Given the description of an element on the screen output the (x, y) to click on. 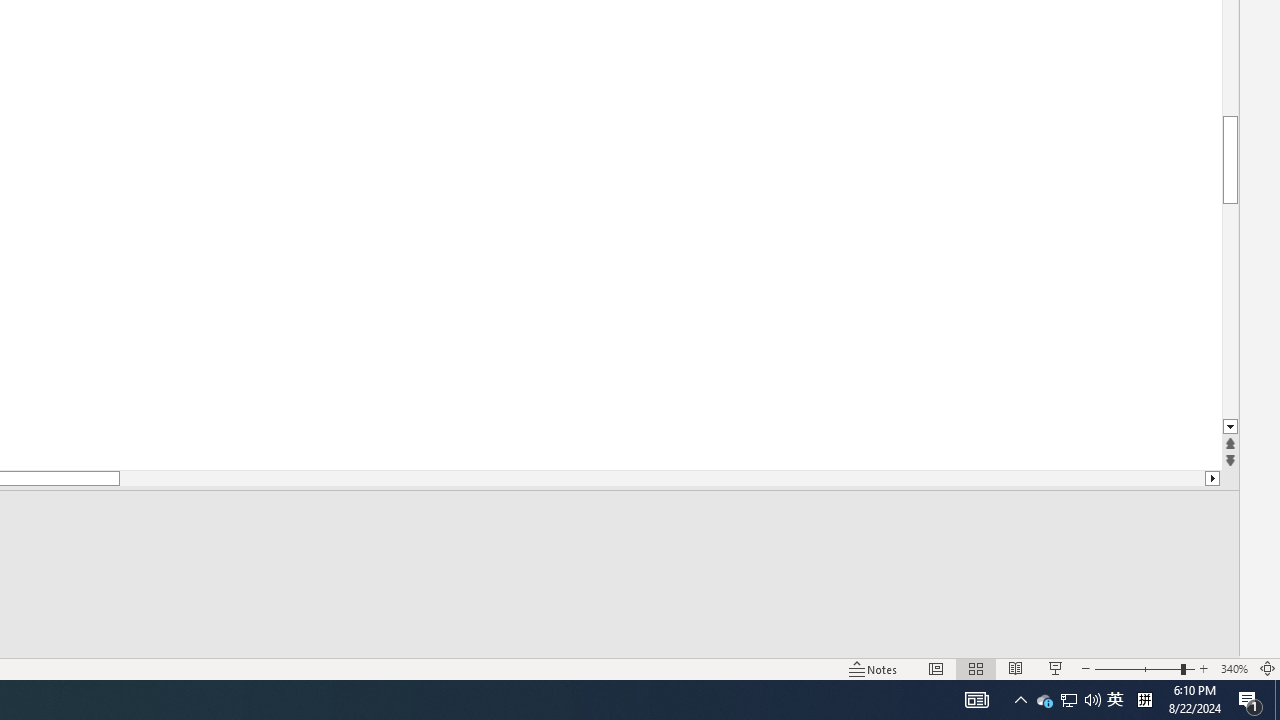
Zoom 340% (1234, 668)
